Given the description of an element on the screen output the (x, y) to click on. 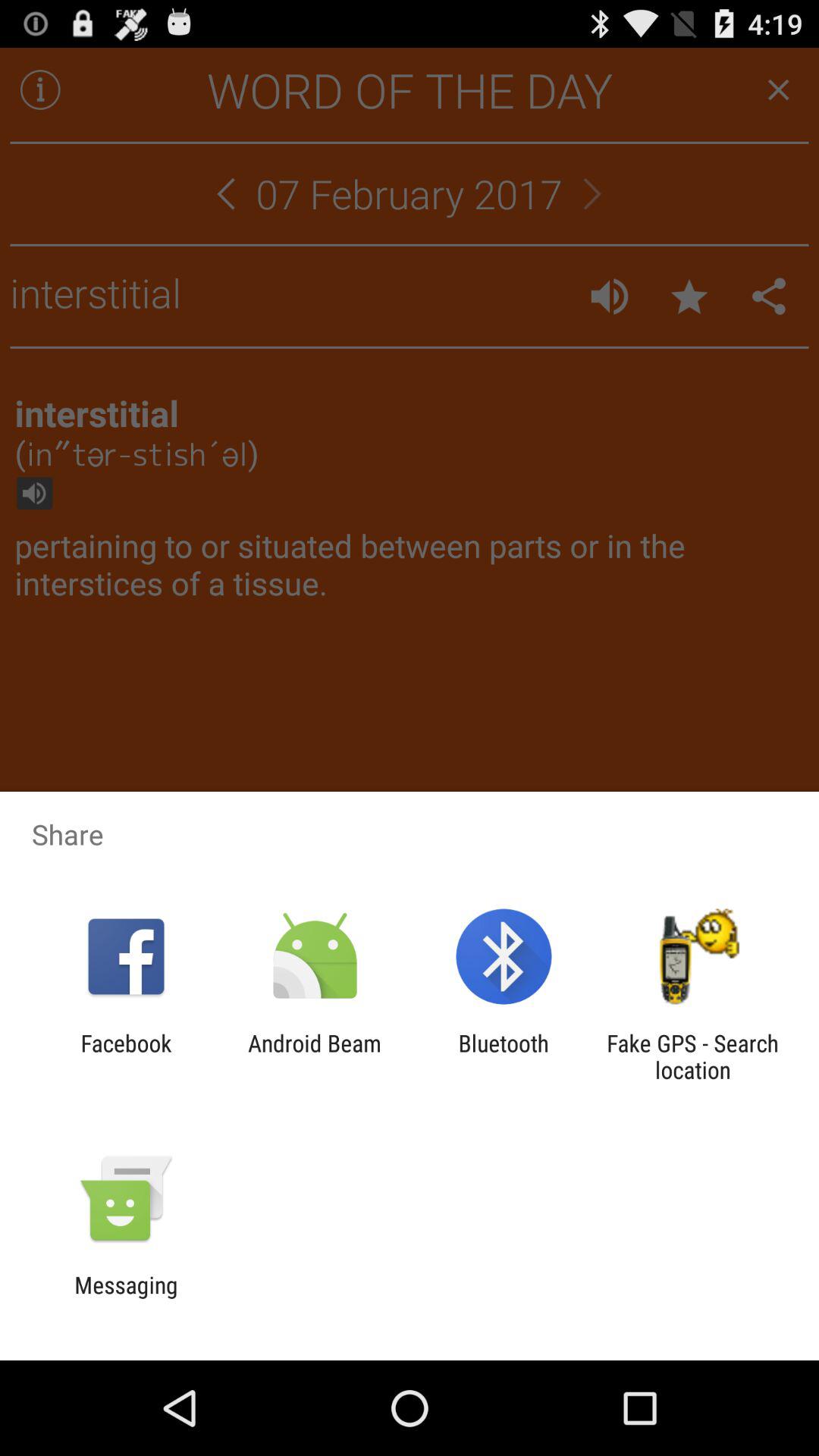
swipe until android beam item (314, 1056)
